Given the description of an element on the screen output the (x, y) to click on. 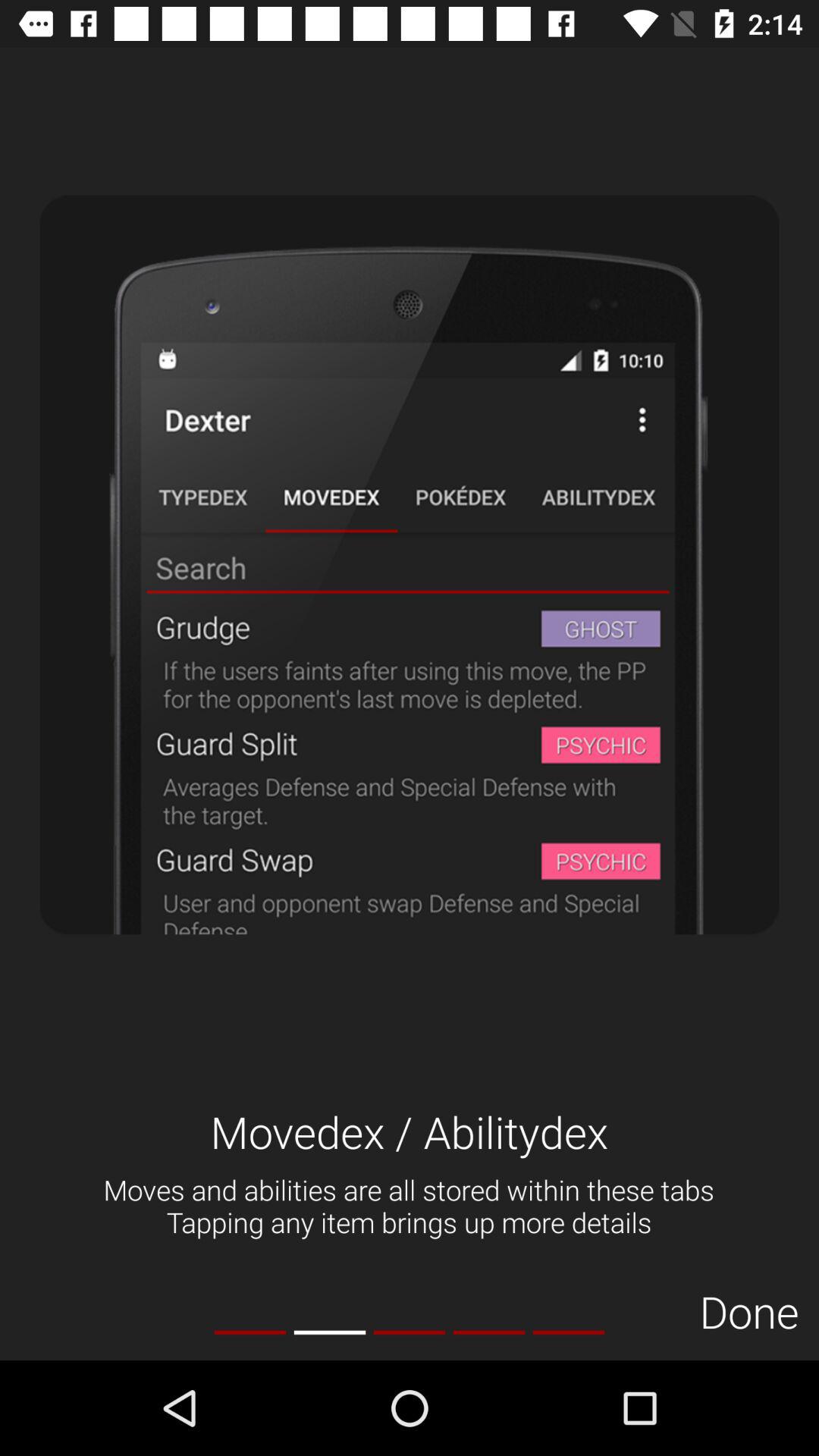
swipe to done app (749, 1311)
